Given the description of an element on the screen output the (x, y) to click on. 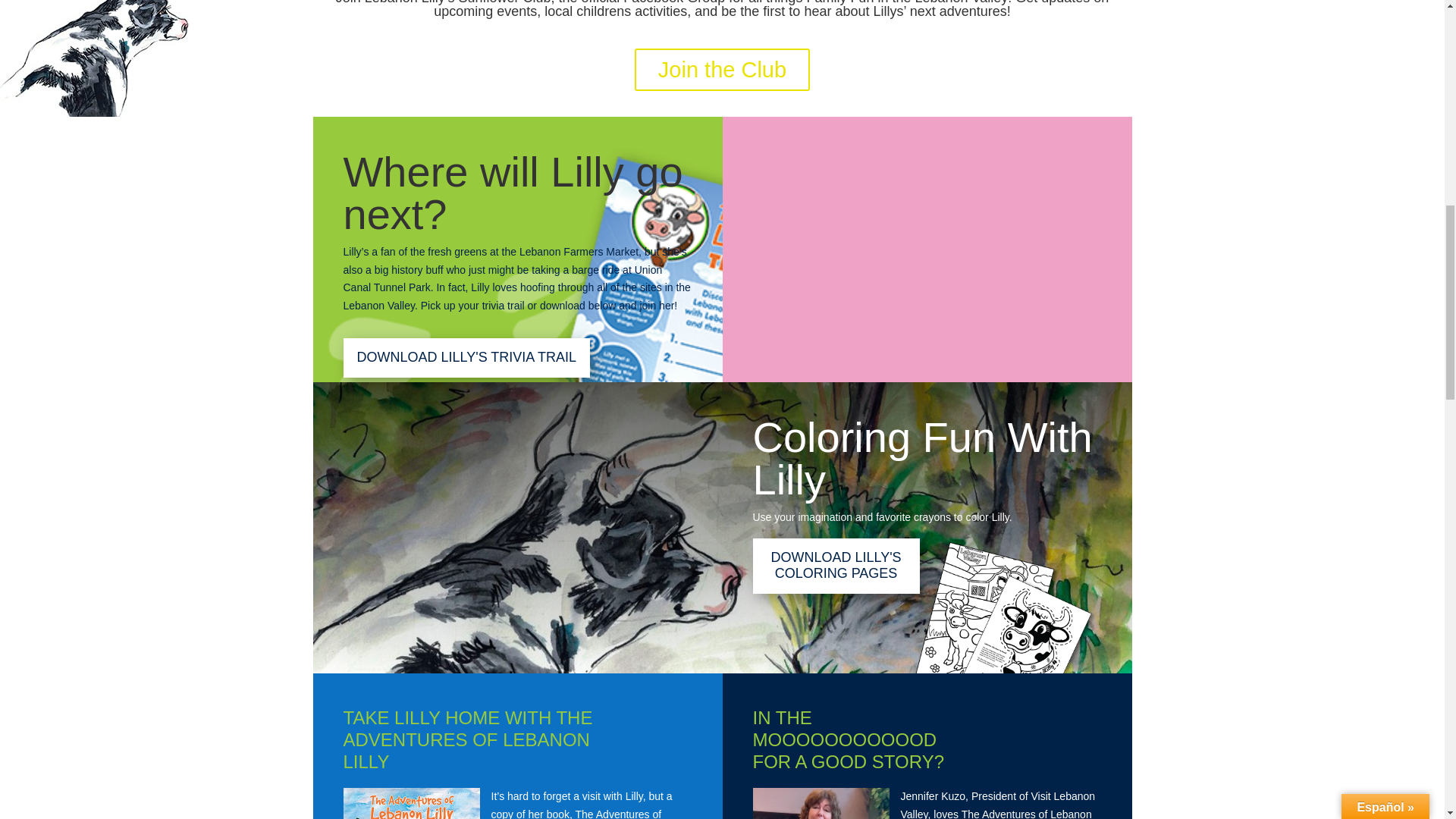
Lebanon Lilly's Birthday Party at Patches Family Creamery (926, 233)
coloringpages-cropped (1006, 606)
